Given the description of an element on the screen output the (x, y) to click on. 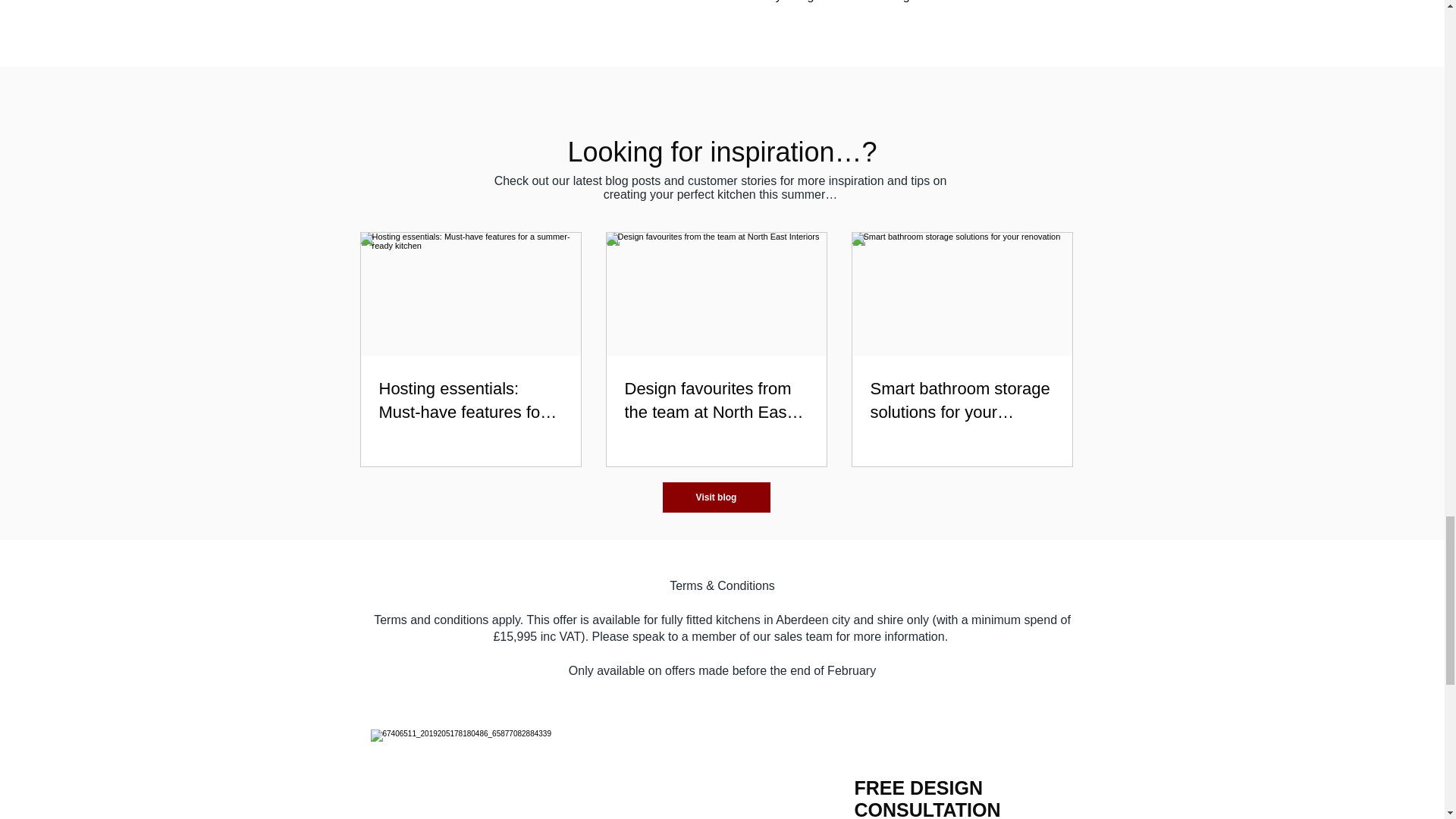
Visit blog (716, 497)
Smart bathroom storage solutions for your renovation (962, 401)
Design favourites from the team at North East Interiors (716, 401)
